Given the description of an element on the screen output the (x, y) to click on. 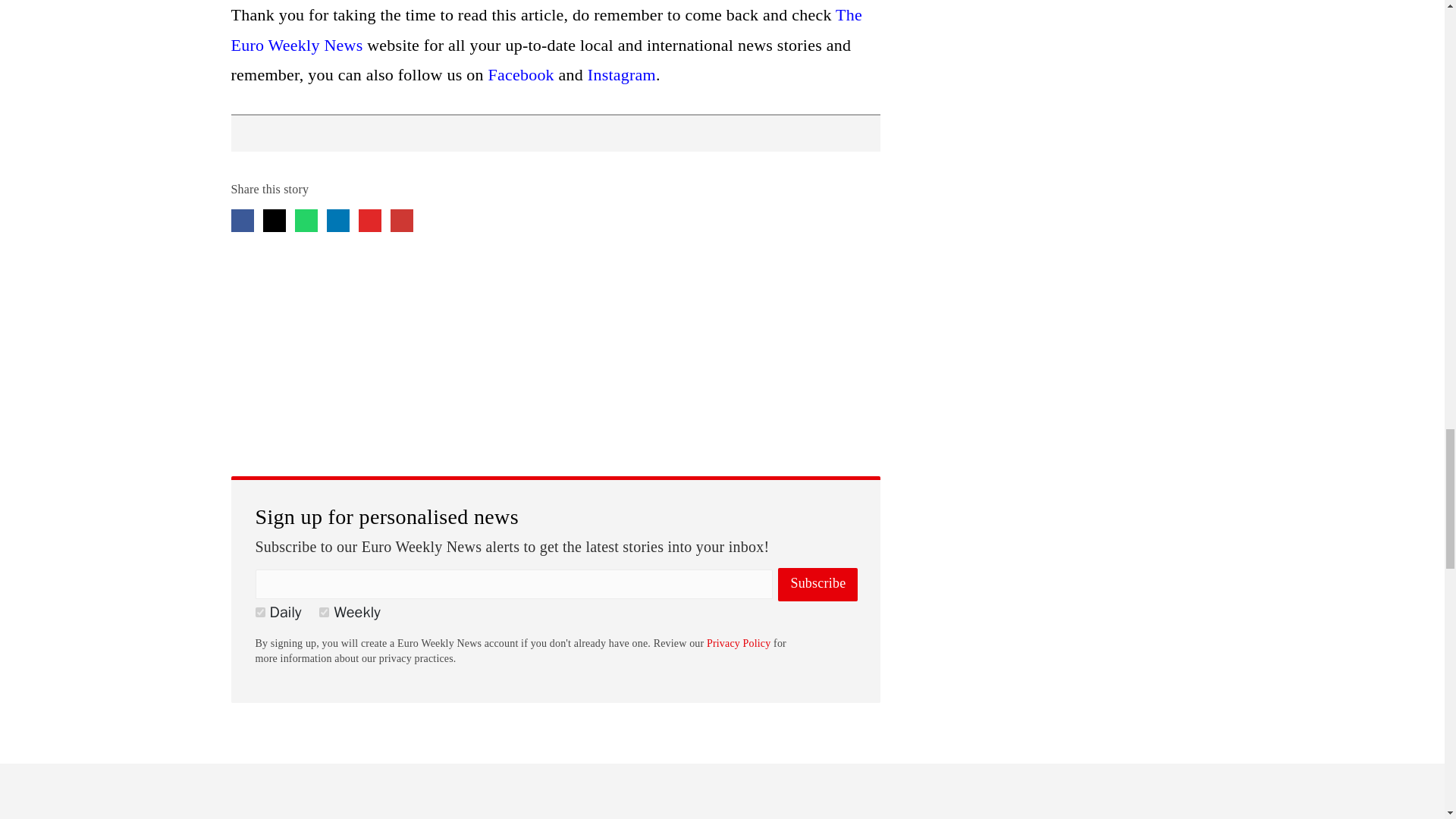
Subscribe (817, 584)
6 (259, 612)
7 (323, 612)
